Given the description of an element on the screen output the (x, y) to click on. 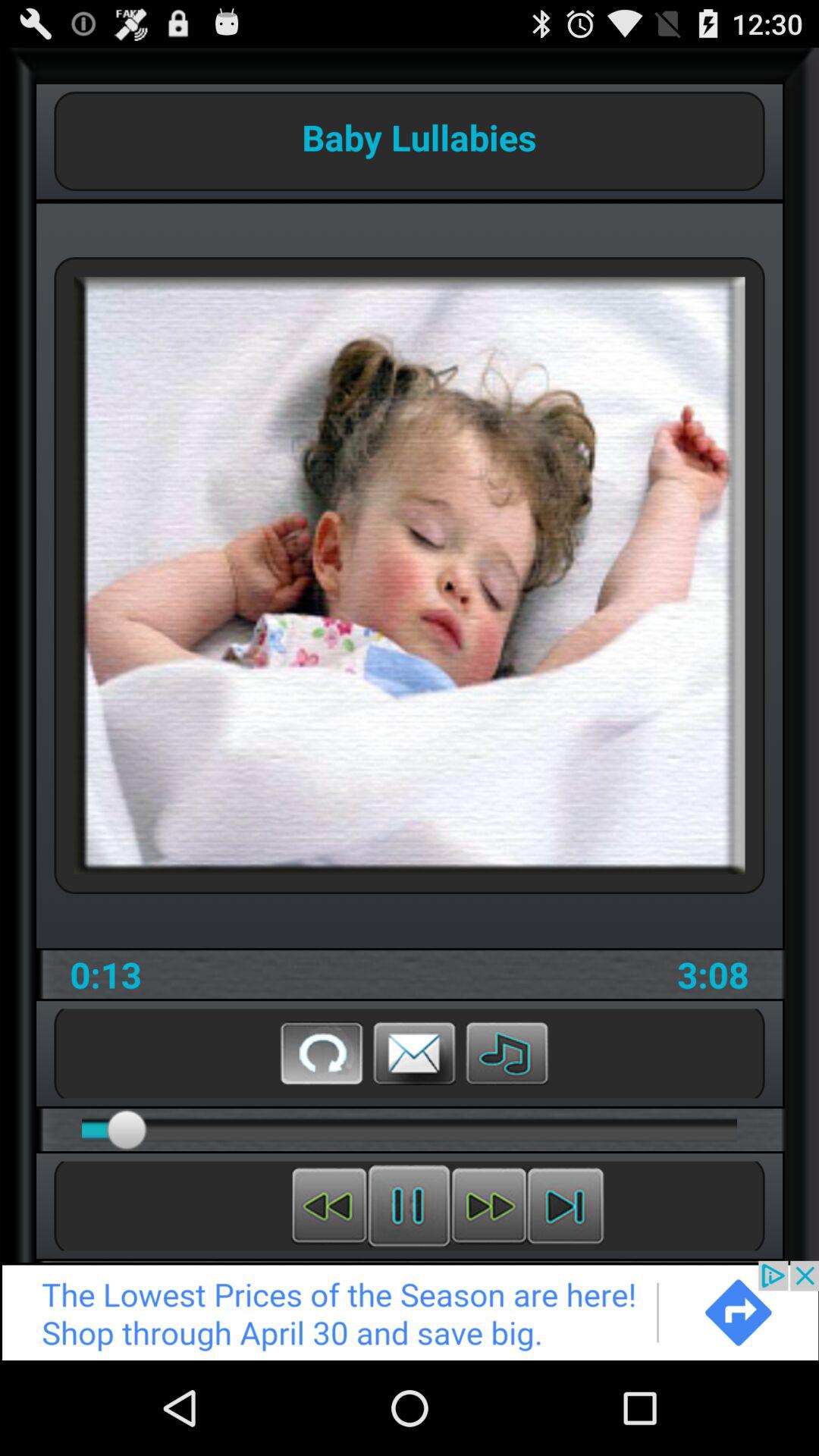
go to an advertisement (409, 1310)
